Given the description of an element on the screen output the (x, y) to click on. 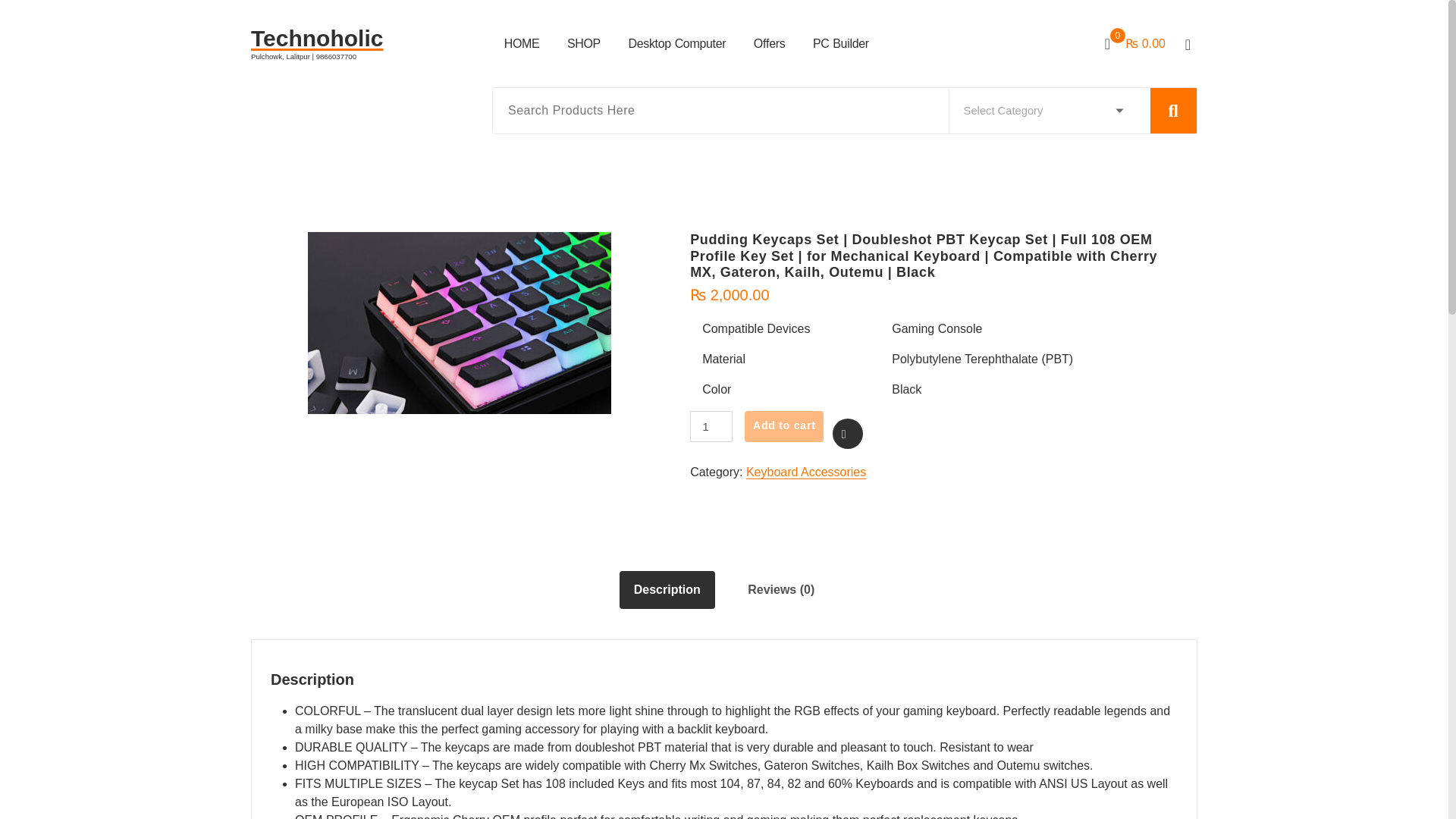
s-l1600-e1618868133553 (459, 322)
HOME (522, 43)
1 (711, 426)
Desktop Computer (677, 43)
Offers (769, 43)
Description (667, 589)
Desktop Computer (677, 43)
Add to cart (784, 426)
SHOP (583, 43)
PC Builder (840, 43)
HOME (522, 43)
Keyboard Accessories (805, 472)
Offers (769, 43)
PC Builder (840, 43)
SHOP (583, 43)
